Given the description of an element on the screen output the (x, y) to click on. 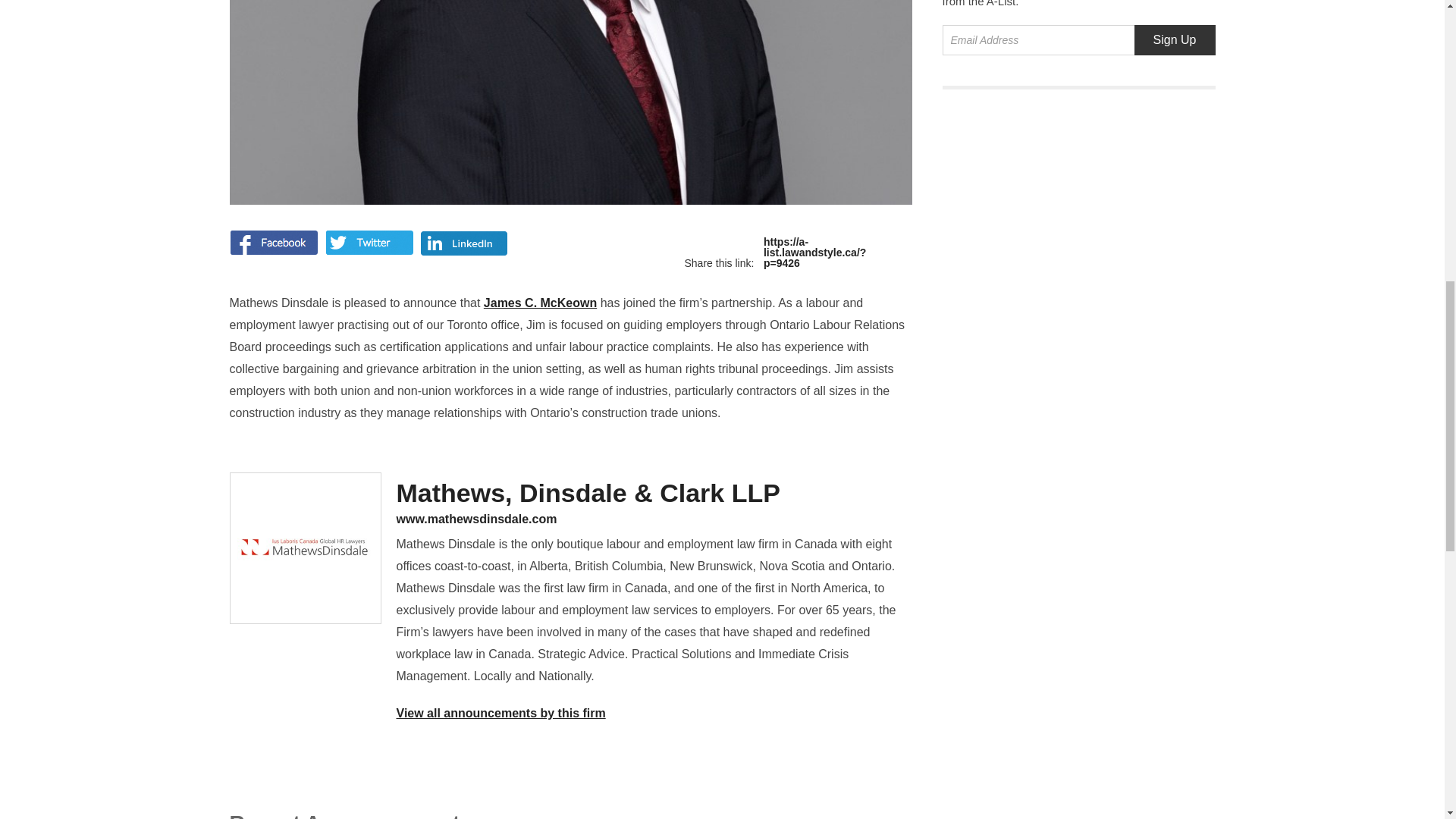
www.mathewsdinsdale.com (653, 519)
James C. McKeown (539, 302)
Sign Up (1174, 40)
View all announcements by this firm (500, 712)
Mathews Dinsdale Congratulates New Partner James C. McKeown (801, 252)
